Given the description of an element on the screen output the (x, y) to click on. 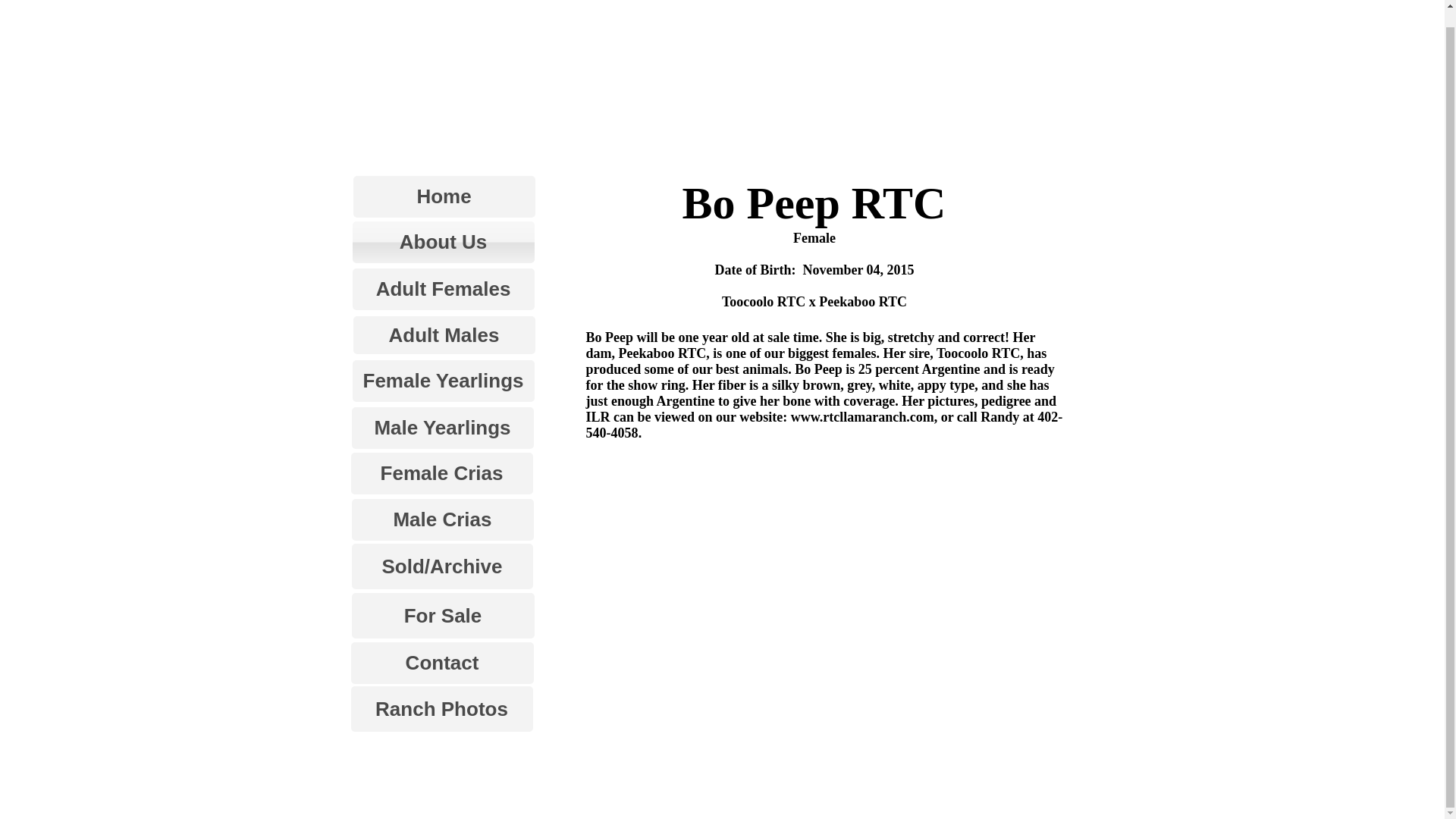
Adult Females (443, 289)
For Sale (443, 615)
Male Yearlings (443, 427)
Female Yearlings (443, 381)
Adult Males (444, 334)
About Us (443, 241)
Male Crias (443, 519)
www.rtcllamaranch.com (862, 417)
Ranch Photos (441, 709)
Female Crias (441, 473)
